Given the description of an element on the screen output the (x, y) to click on. 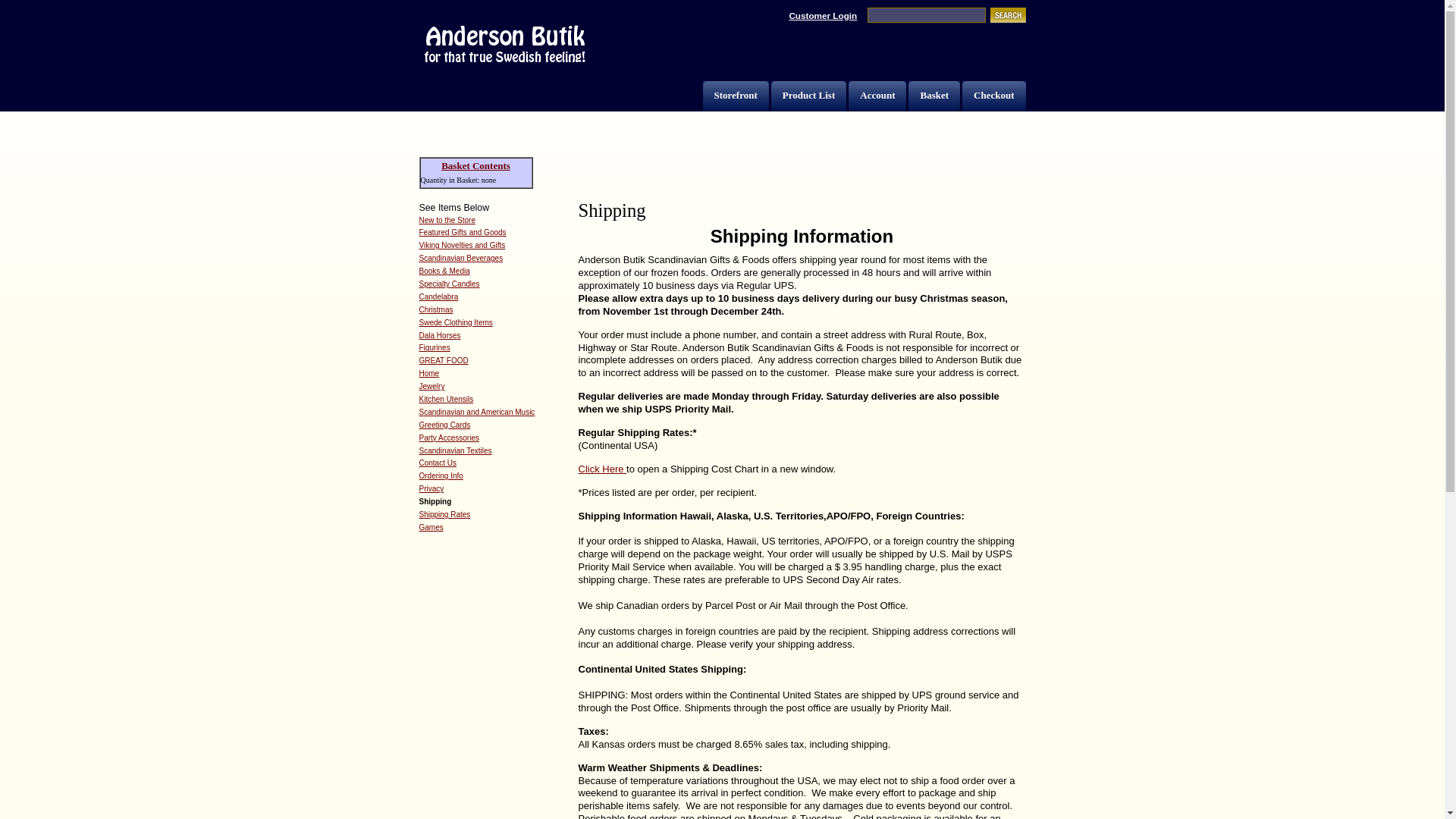
Scandinavian Textiles (455, 450)
GREAT FOOD (443, 360)
Candelabra (438, 296)
Click Here (602, 469)
New to the Store (446, 220)
Christmas (435, 309)
Greeting Cards (444, 424)
Ordering Info (441, 475)
My Company (503, 45)
Privacy (431, 488)
